Given the description of an element on the screen output the (x, y) to click on. 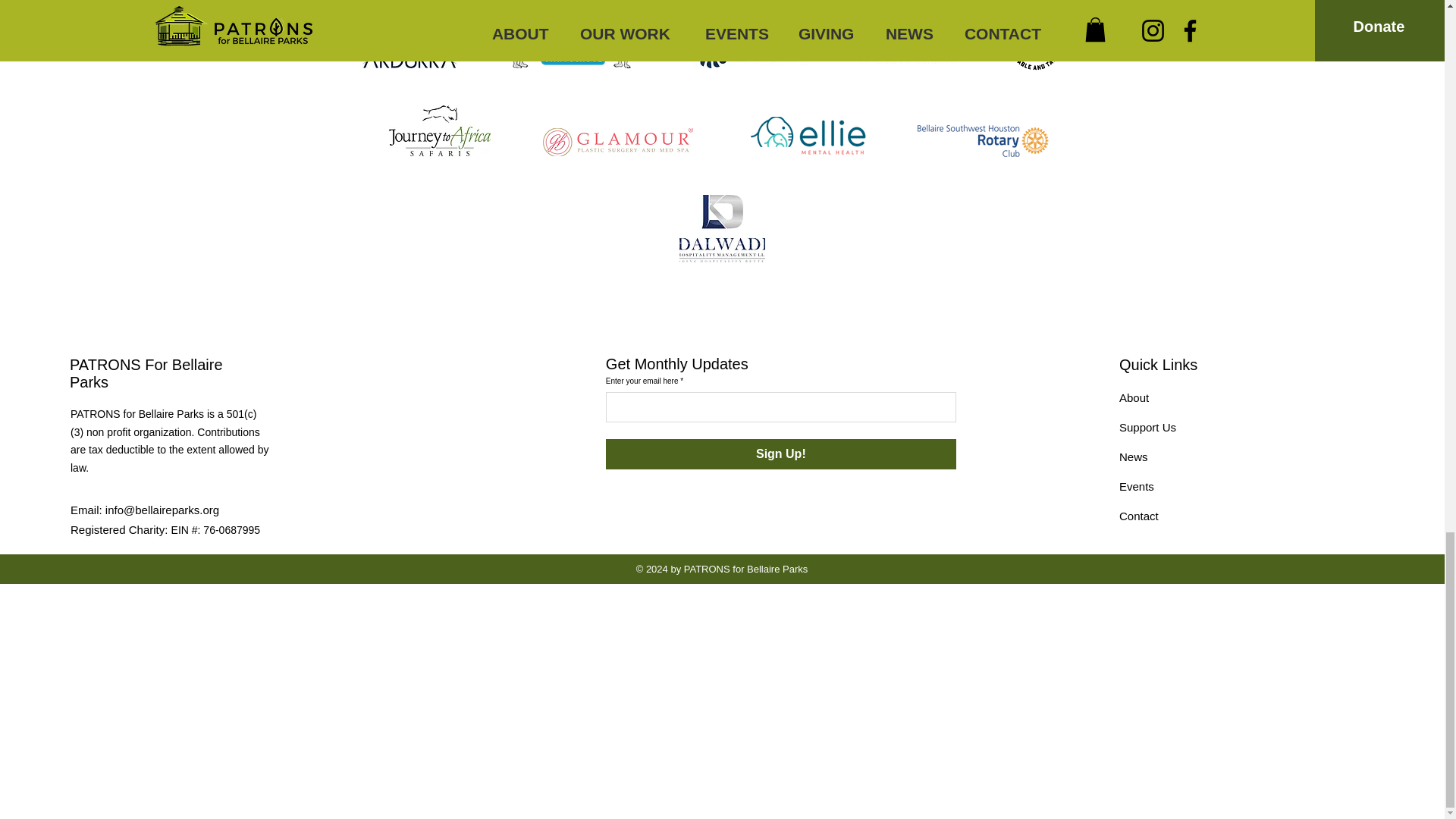
Ellie.png (808, 136)
ardurra logo.jpg (409, 37)
401.png (1034, 42)
